Given the description of an element on the screen output the (x, y) to click on. 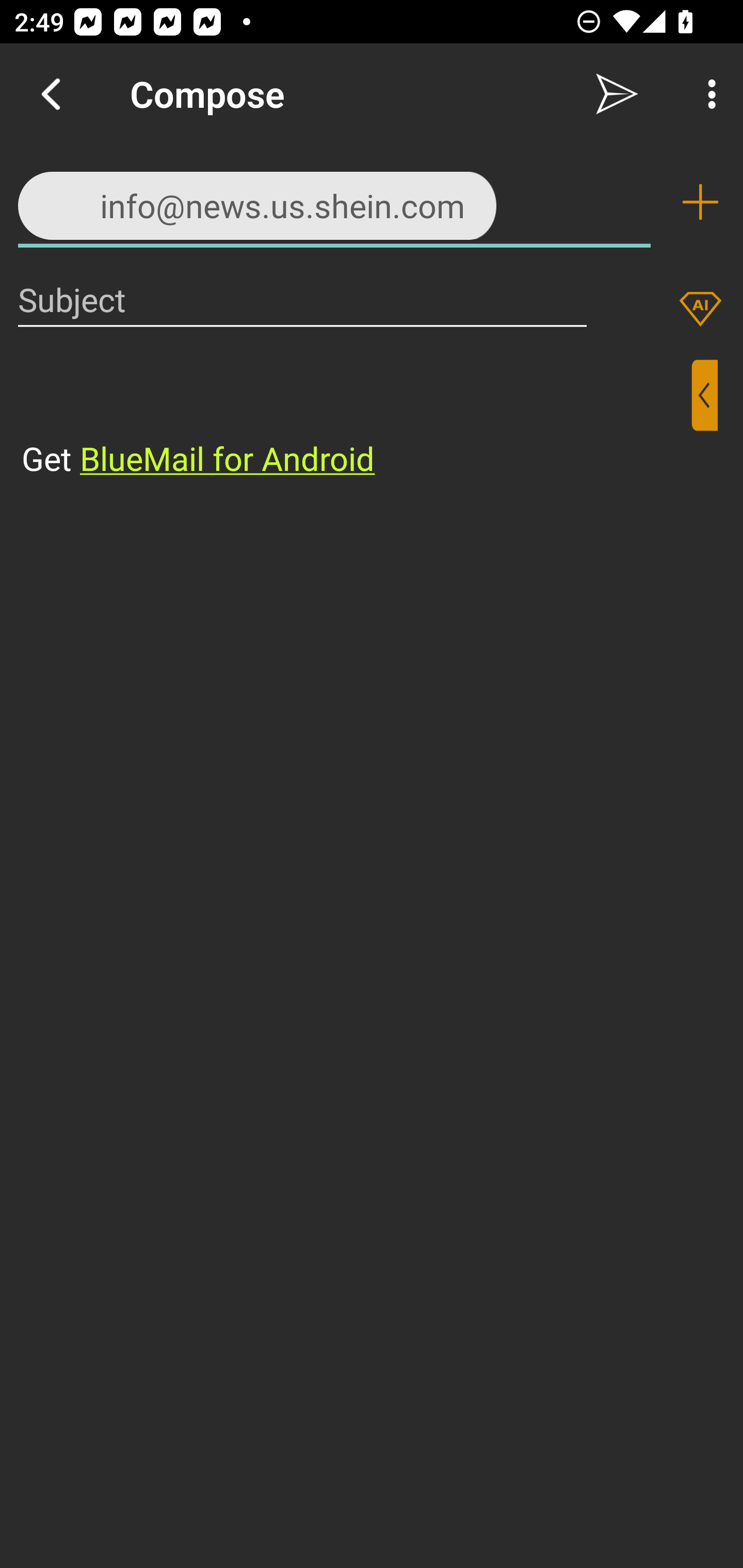
Navigate up (50, 93)
Send (616, 93)
More Options (706, 93)
<info@news.us.shein.com>,  (334, 201)
Add recipient (To) (699, 201)
Subject (302, 299)


⁣Get BlueMail for Android ​ (355, 419)
